Given the description of an element on the screen output the (x, y) to click on. 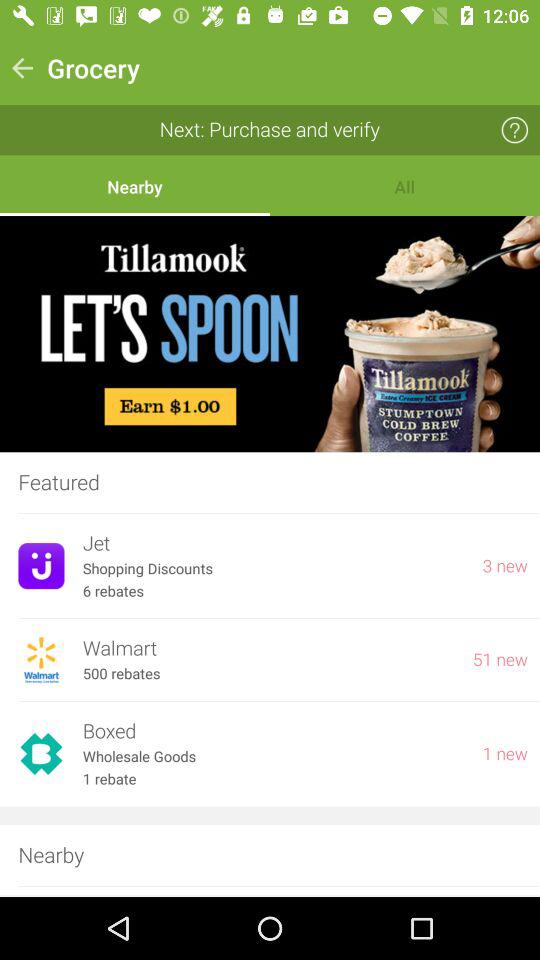
launch icon next to 1 new item (273, 731)
